Given the description of an element on the screen output the (x, y) to click on. 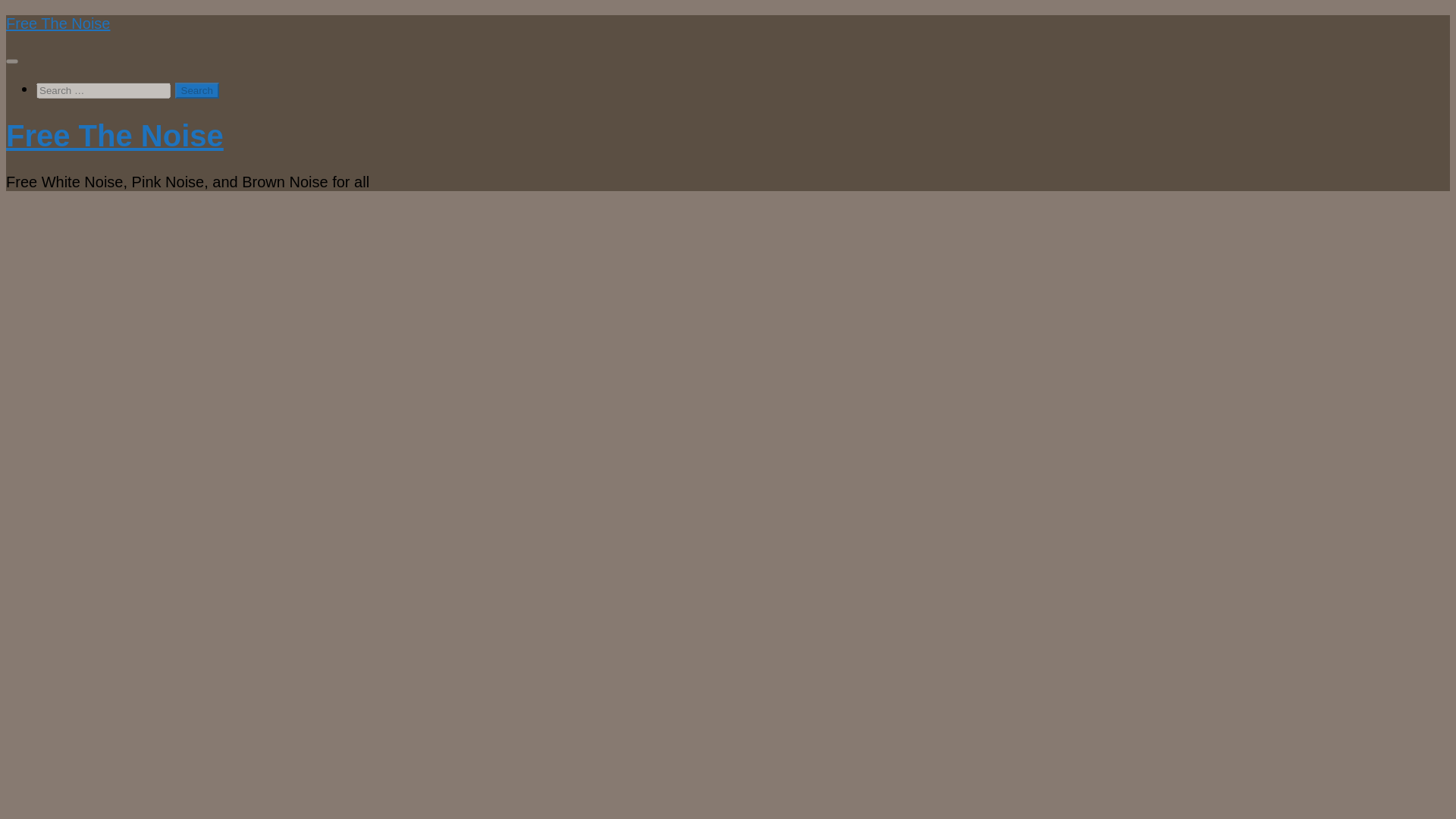
Search (196, 90)
Search (196, 90)
Free The Noise (57, 23)
Search (196, 90)
Menu (11, 60)
Free The Noise (114, 135)
